Given the description of an element on the screen output the (x, y) to click on. 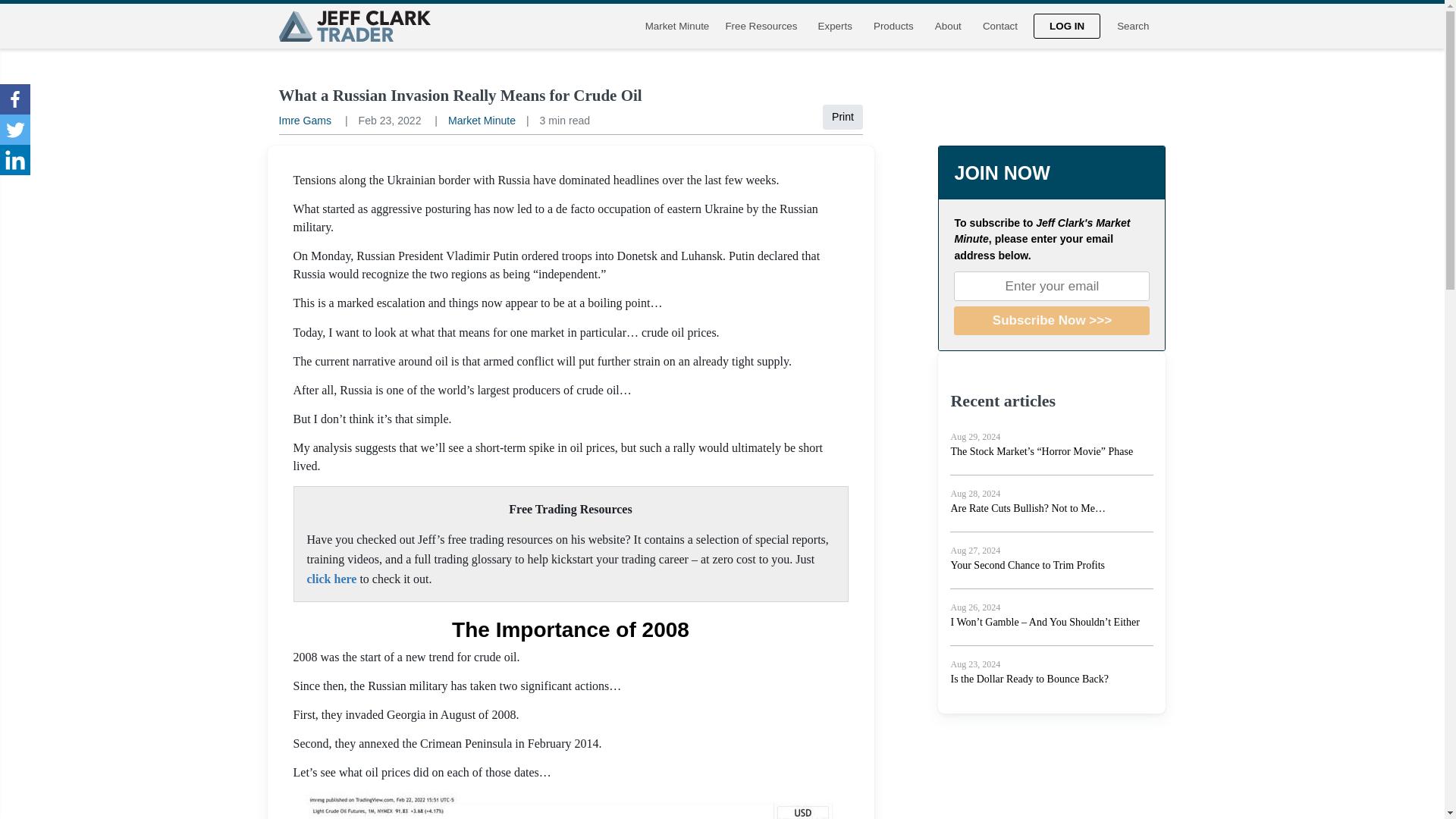
Experts (834, 25)
About (948, 25)
click here (330, 578)
LOG IN (1066, 25)
Jeff Clark Trader (354, 25)
Products (892, 25)
Market Minute (481, 120)
Is the Dollar Ready to Bounce Back? (1029, 678)
Linkedin (15, 159)
Search (1133, 25)
